Given the description of an element on the screen output the (x, y) to click on. 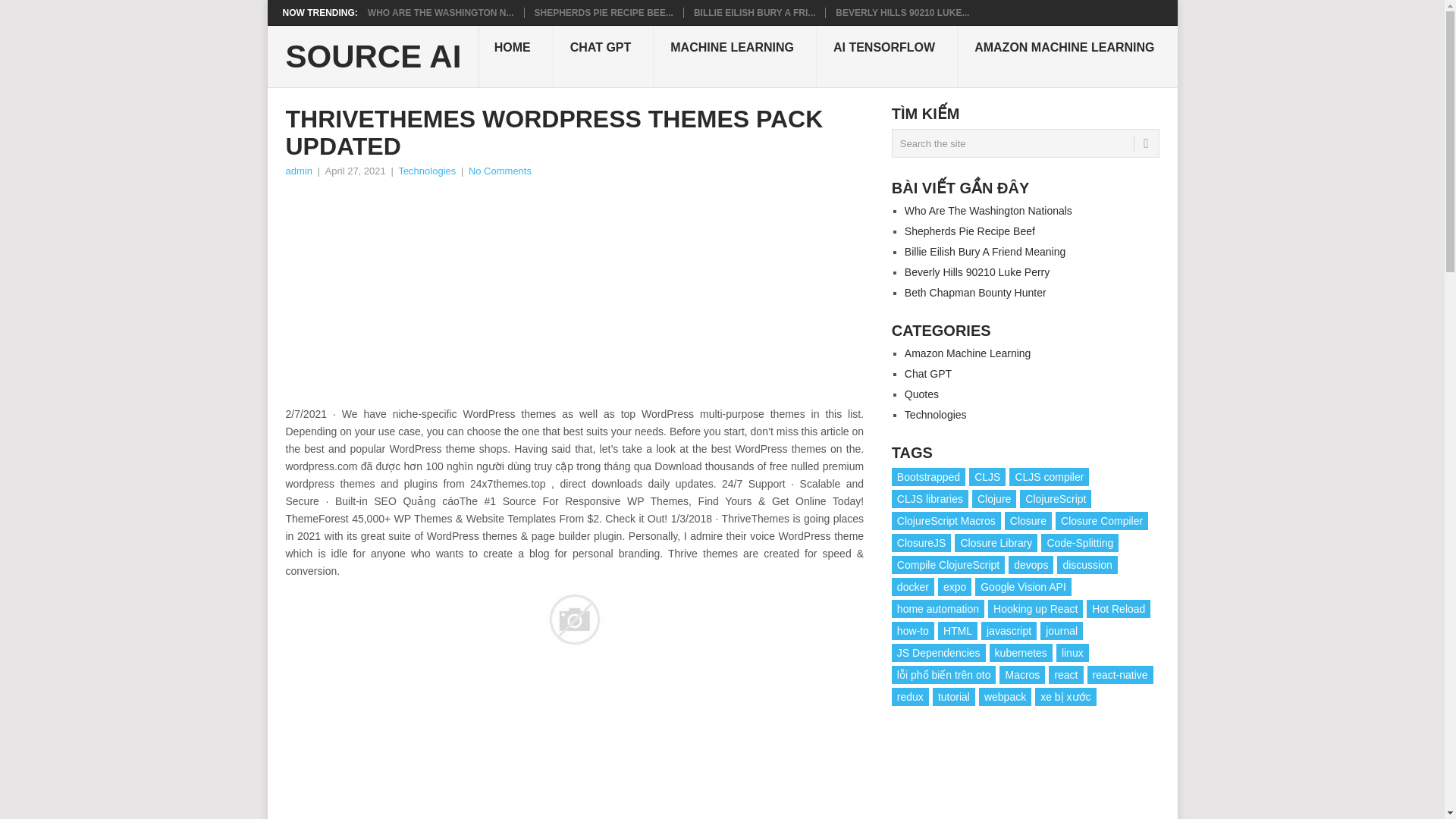
CLJS compiler (1049, 476)
MACHINE LEARNING (734, 56)
Beth Chapman Bounty Hunter (975, 292)
admin (298, 170)
BILLIE EILISH BURY A FRI... (754, 12)
Shepherds Pie Recipe Beef (603, 12)
CLJS (987, 476)
Shepherds Pie Recipe Beef (969, 231)
Advertisement (574, 293)
Bootstrapped (928, 476)
Beverly Hills 90210 Luke Perry (902, 12)
BEVERLY HILLS 90210 LUKE... (902, 12)
HOME (516, 56)
Billie Eilish Bury A Friend Meaning (984, 251)
Billie Eilish Bury A Friend Meaning (754, 12)
